Given the description of an element on the screen output the (x, y) to click on. 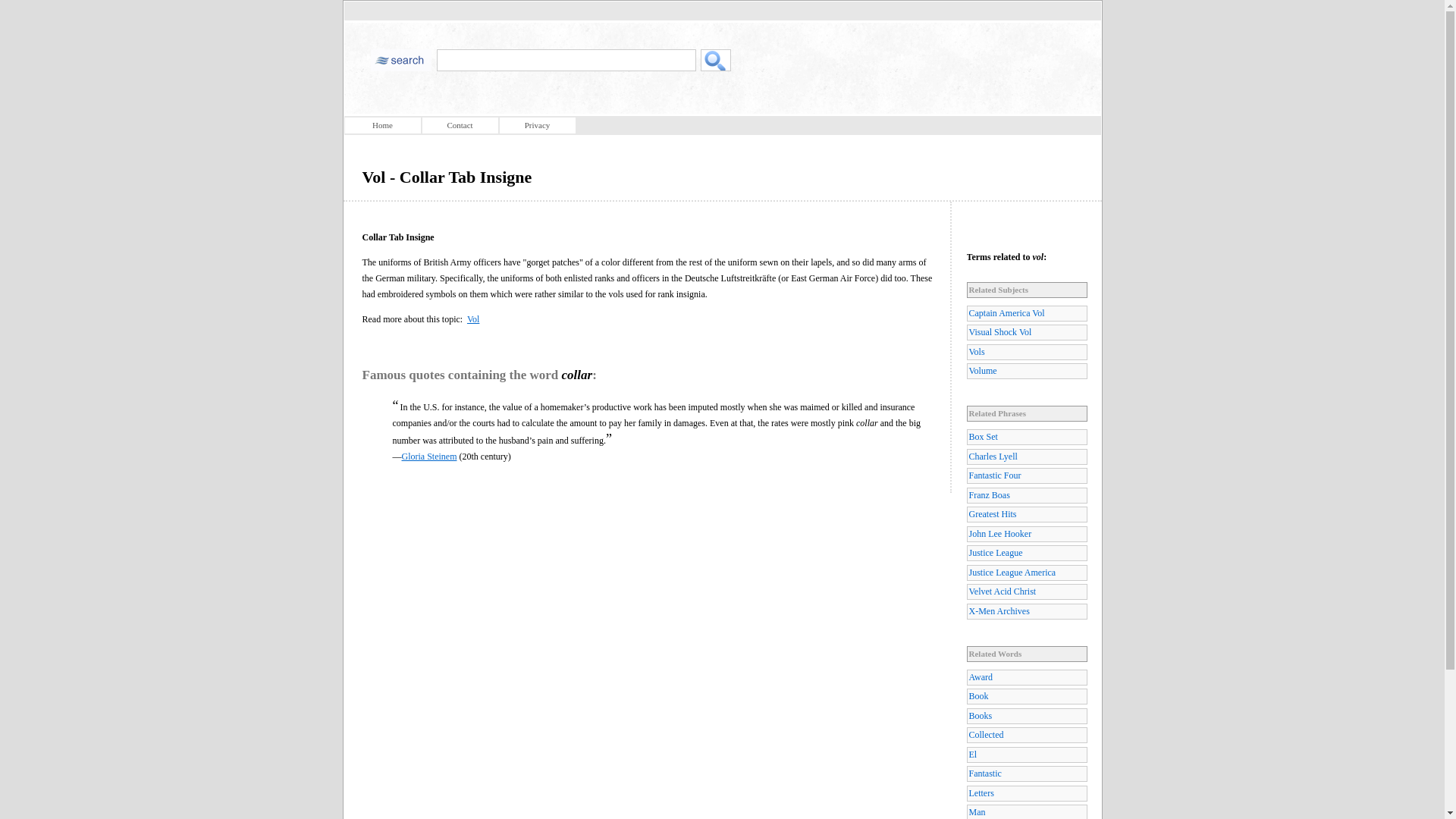
Visual Shock Vol (1026, 332)
Book (1026, 696)
Who is Gloria Steinem? (429, 456)
El (1026, 754)
Collected (1026, 734)
Man (1026, 811)
Fantastic Four (1026, 475)
Vols (1026, 351)
Justice League America (1026, 572)
Award (1026, 677)
